Given the description of an element on the screen output the (x, y) to click on. 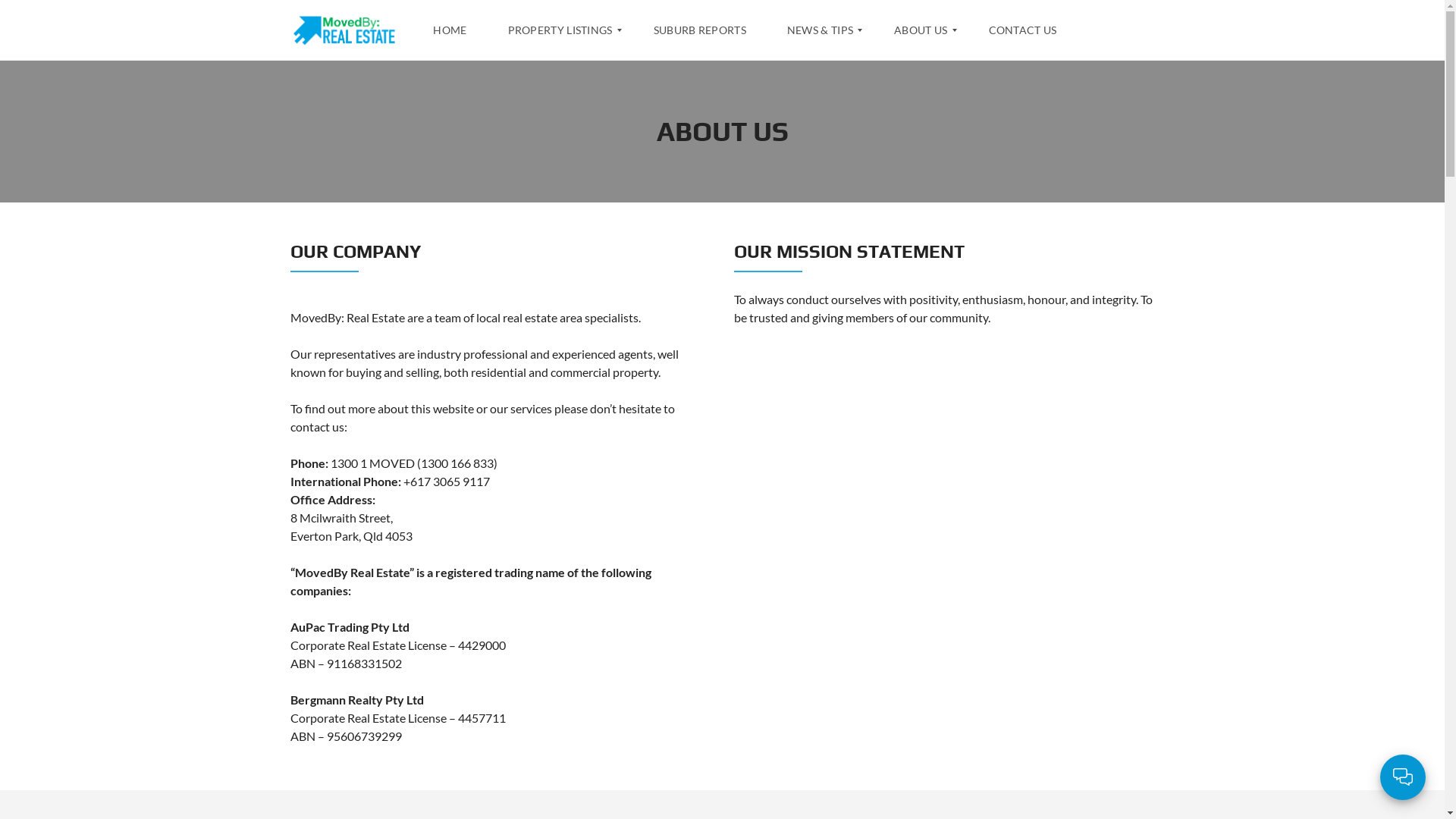
PROPERTY LISTINGS Element type: text (560, 30)
SUBURB REPORTS Element type: text (699, 30)
ABOUT US Element type: text (920, 30)
CONTACT US Element type: text (1022, 30)
NEWS & TIPS Element type: text (820, 30)
MovedBy Real Estate Element type: hover (342, 30)
HOME Element type: text (456, 30)
